Given the description of an element on the screen output the (x, y) to click on. 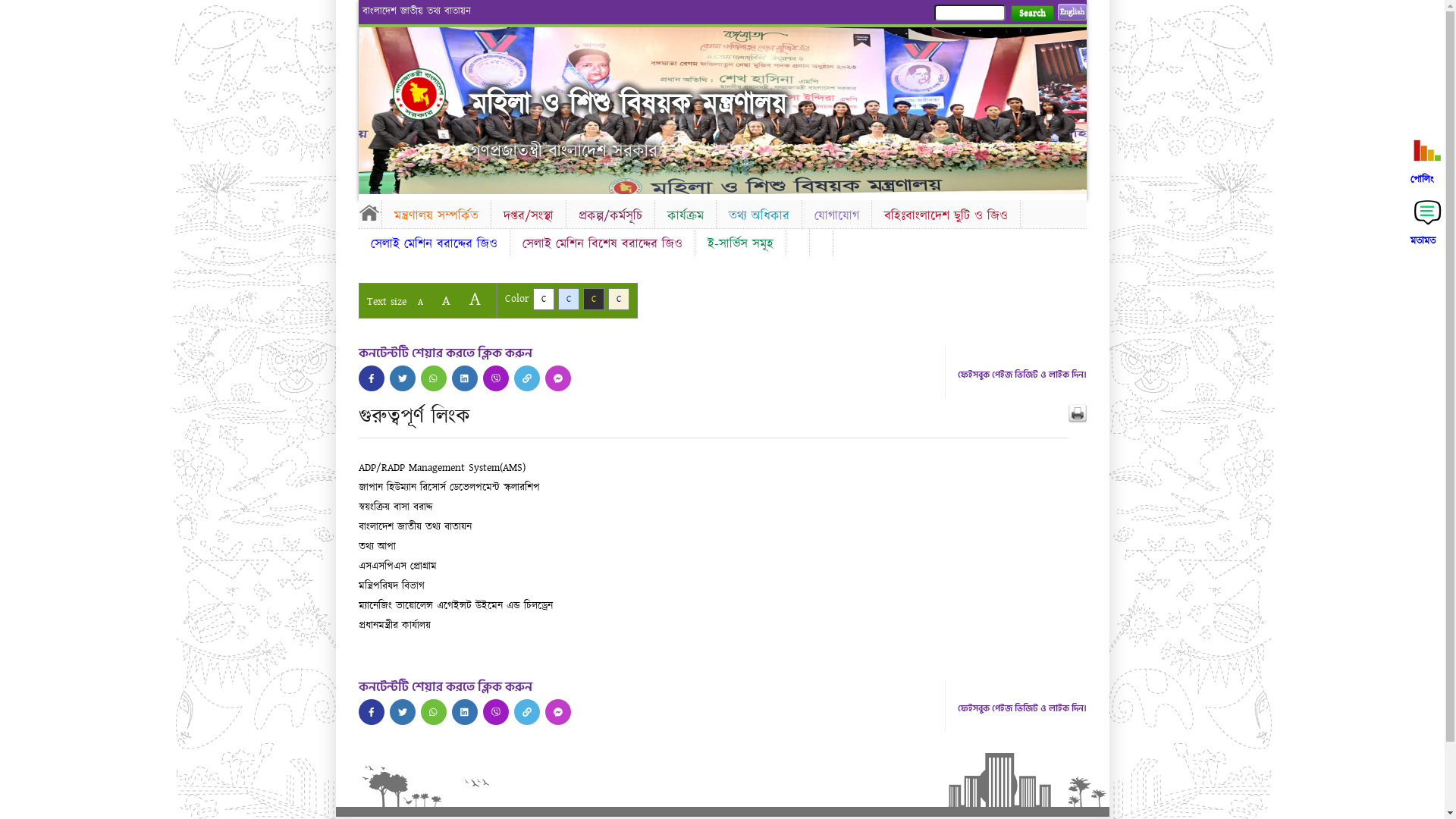
C Element type: text (568, 299)
C Element type: text (618, 299)
Home Element type: hover (431, 93)
C Element type: text (592, 299)
A Element type: text (474, 298)
Search Element type: text (1031, 13)
English Element type: text (1071, 11)
A Element type: text (419, 301)
C Element type: text (542, 299)
ADP/RADP Management System(AMS) Element type: text (440, 467)
A Element type: text (445, 300)
Home Element type: hover (368, 211)
